Given the description of an element on the screen output the (x, y) to click on. 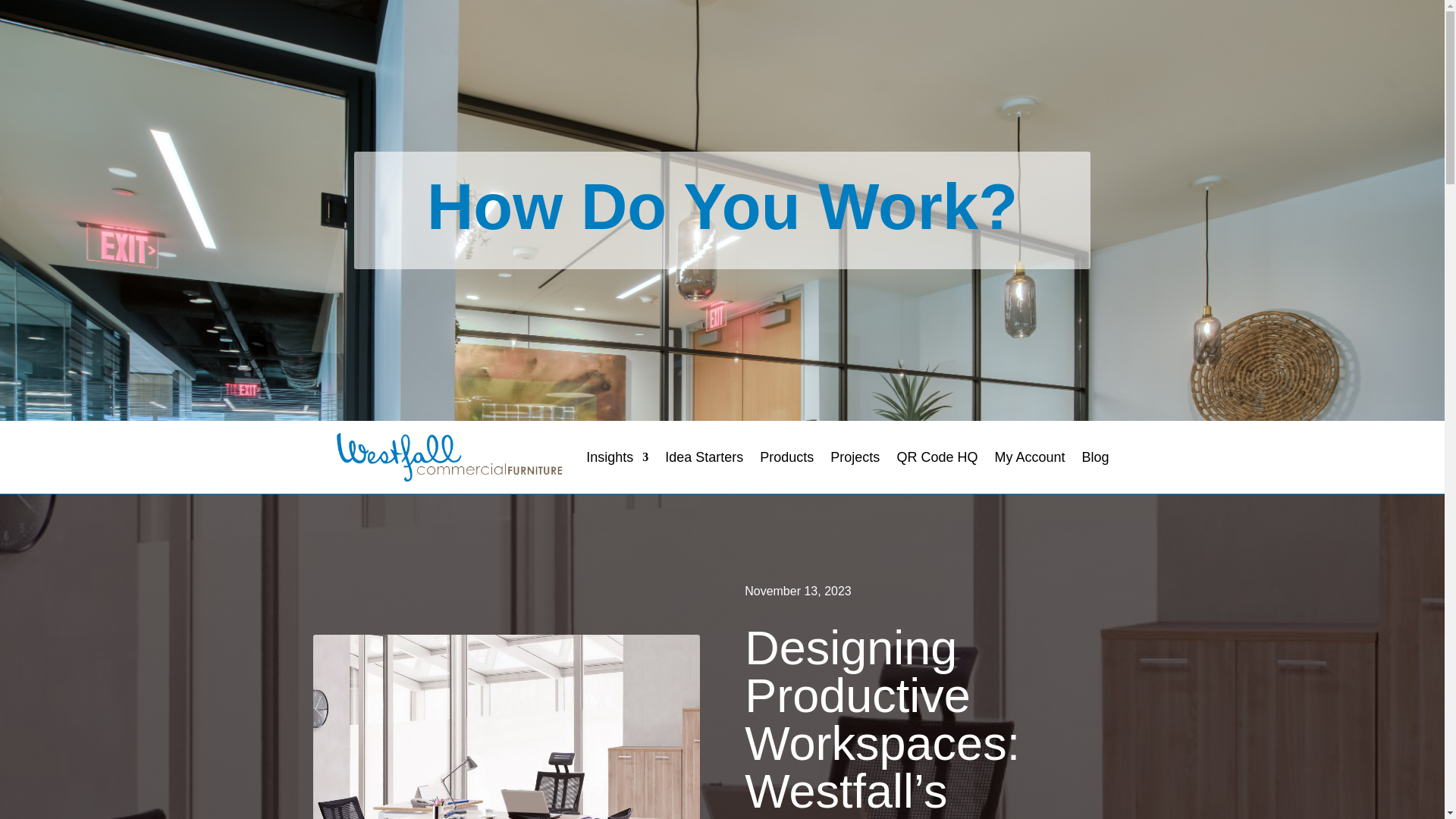
Projects (854, 457)
Insights (616, 457)
Products (786, 457)
Blog (1094, 457)
QR Code HQ (936, 457)
My Account (1029, 457)
Idea Starters (703, 457)
